Given the description of an element on the screen output the (x, y) to click on. 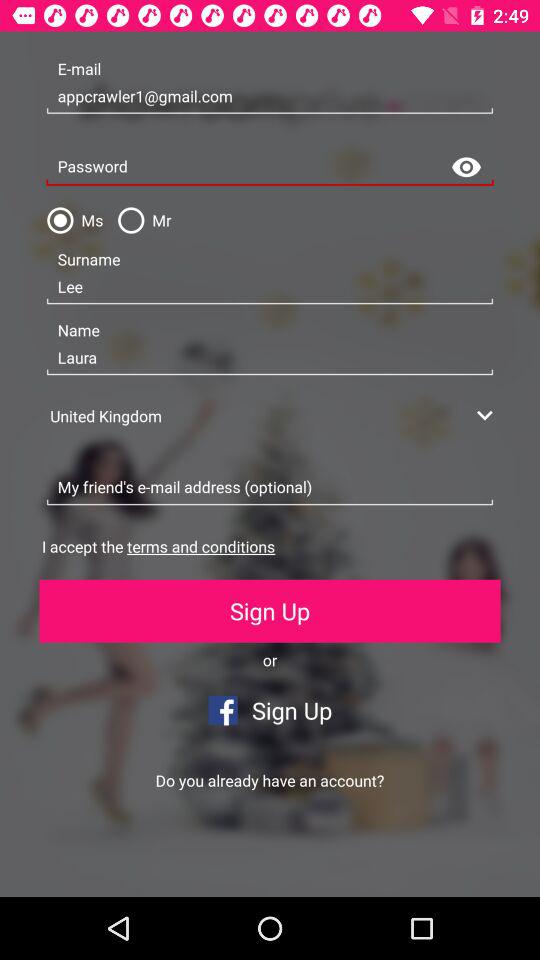
press the i accept the icon (158, 546)
